Given the description of an element on the screen output the (x, y) to click on. 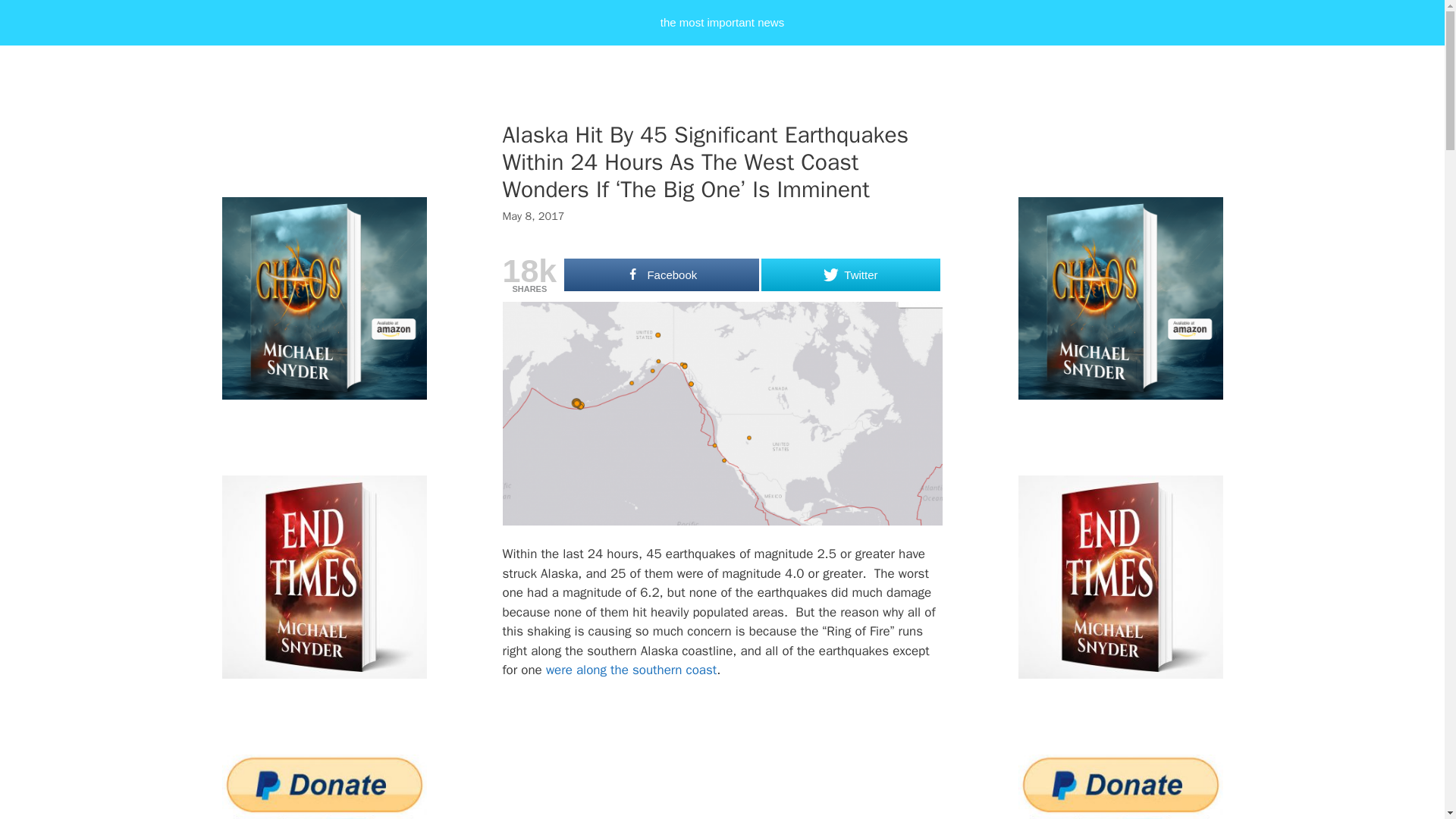
were along the southern coast (631, 669)
Facebook (661, 274)
were along the southern coast (631, 669)
Facebook (661, 274)
the most important news (722, 22)
Twitter (850, 274)
Advertisement (756, 759)
the most important news (722, 22)
Twitter (850, 274)
